Given the description of an element on the screen output the (x, y) to click on. 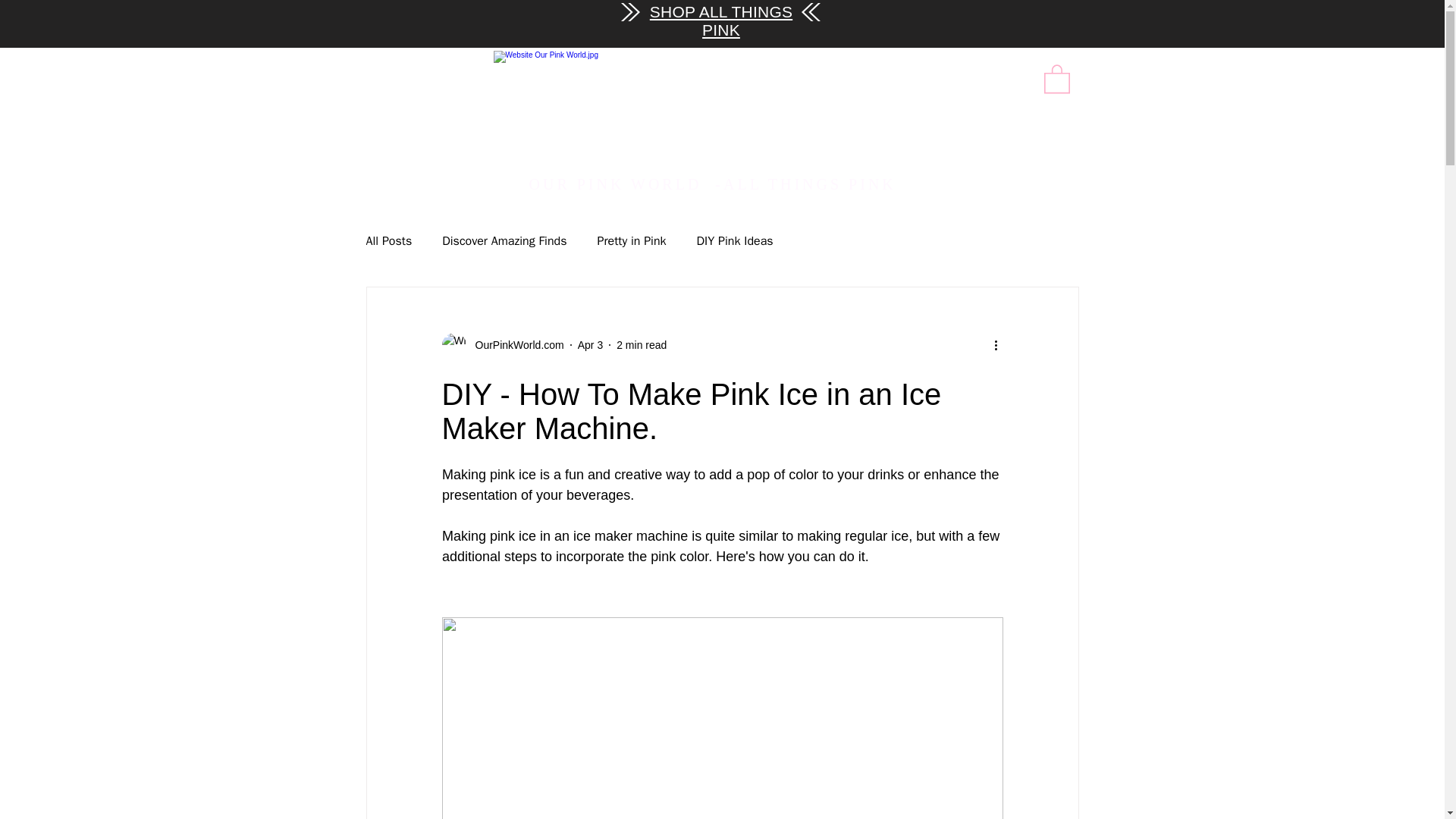
OurPinkWorld.com (514, 344)
All Posts (388, 241)
DIY Pink Ideas (735, 241)
Pretty in Pink (630, 241)
SHOP ALL THINGS PINK (720, 20)
Apr 3 (590, 344)
2 min read (640, 344)
OurPinkWorld.com (502, 344)
Discover Amazing Finds (504, 241)
